Given the description of an element on the screen output the (x, y) to click on. 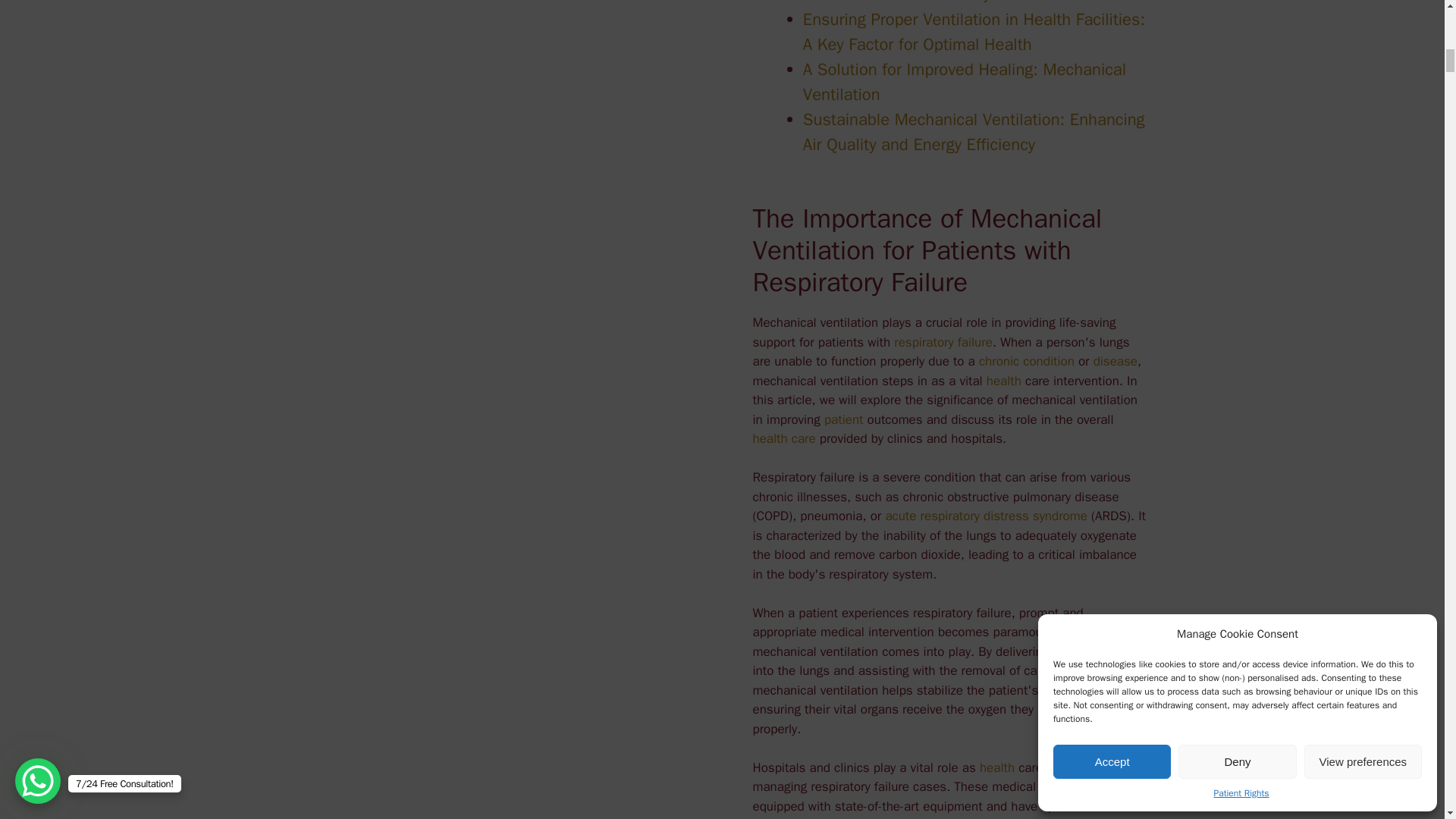
health (996, 767)
acute respiratory distress syndrome (986, 515)
